Given the description of an element on the screen output the (x, y) to click on. 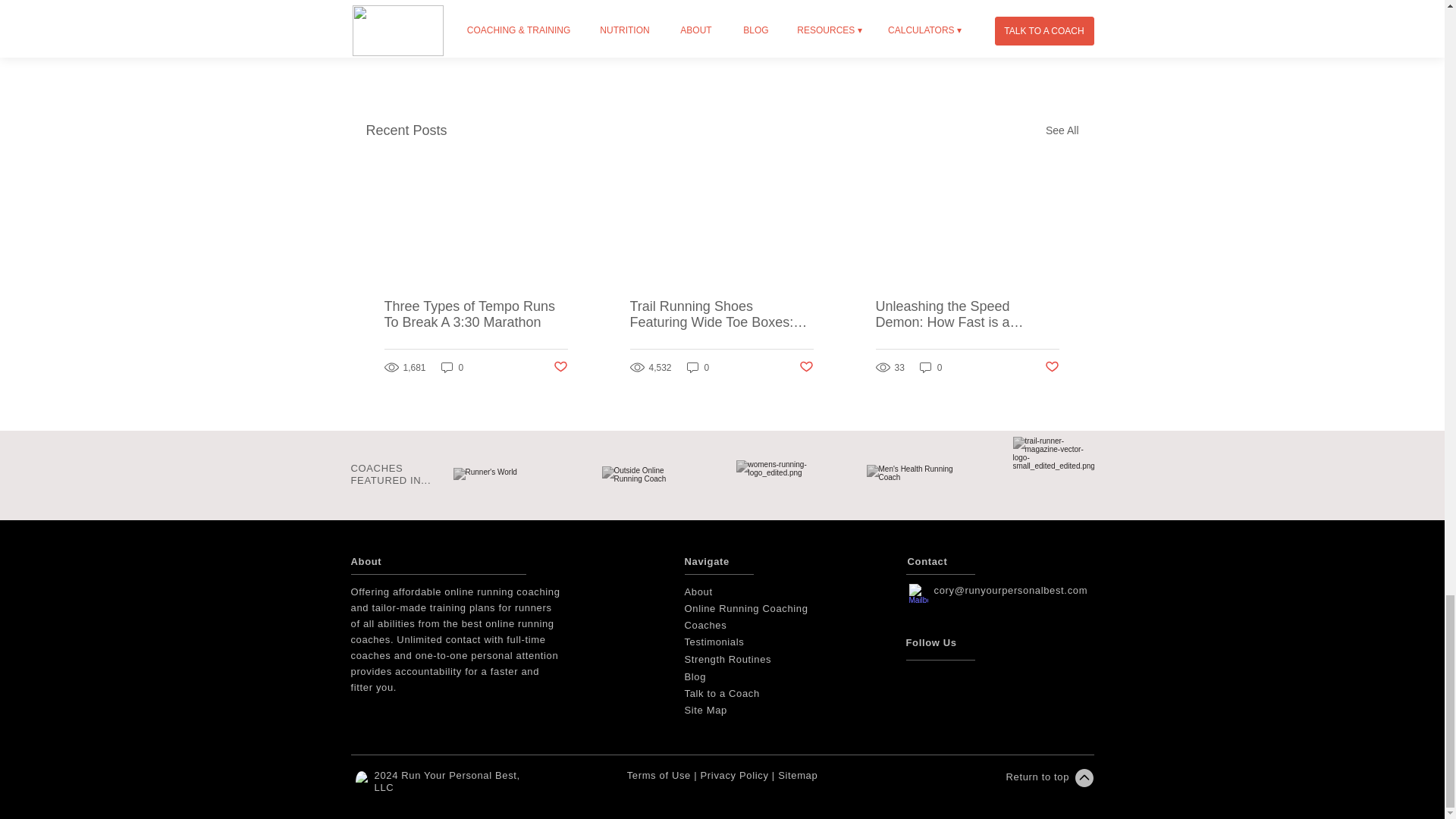
0 (930, 367)
Unleashing the Speed Demon: How Fast is a Cheetah? (966, 314)
Online Running Coaching (746, 608)
Post not marked as liked (560, 367)
Post not marked as liked (995, 48)
Coaches (705, 624)
Running Coach (360, 776)
Testimonials  (715, 641)
0 (452, 367)
About (697, 591)
Three Types of Tempo Runs To Break A 3:30 Marathon (475, 314)
Post not marked as liked (1052, 367)
0 (698, 367)
See All (1061, 130)
